Given the description of an element on the screen output the (x, y) to click on. 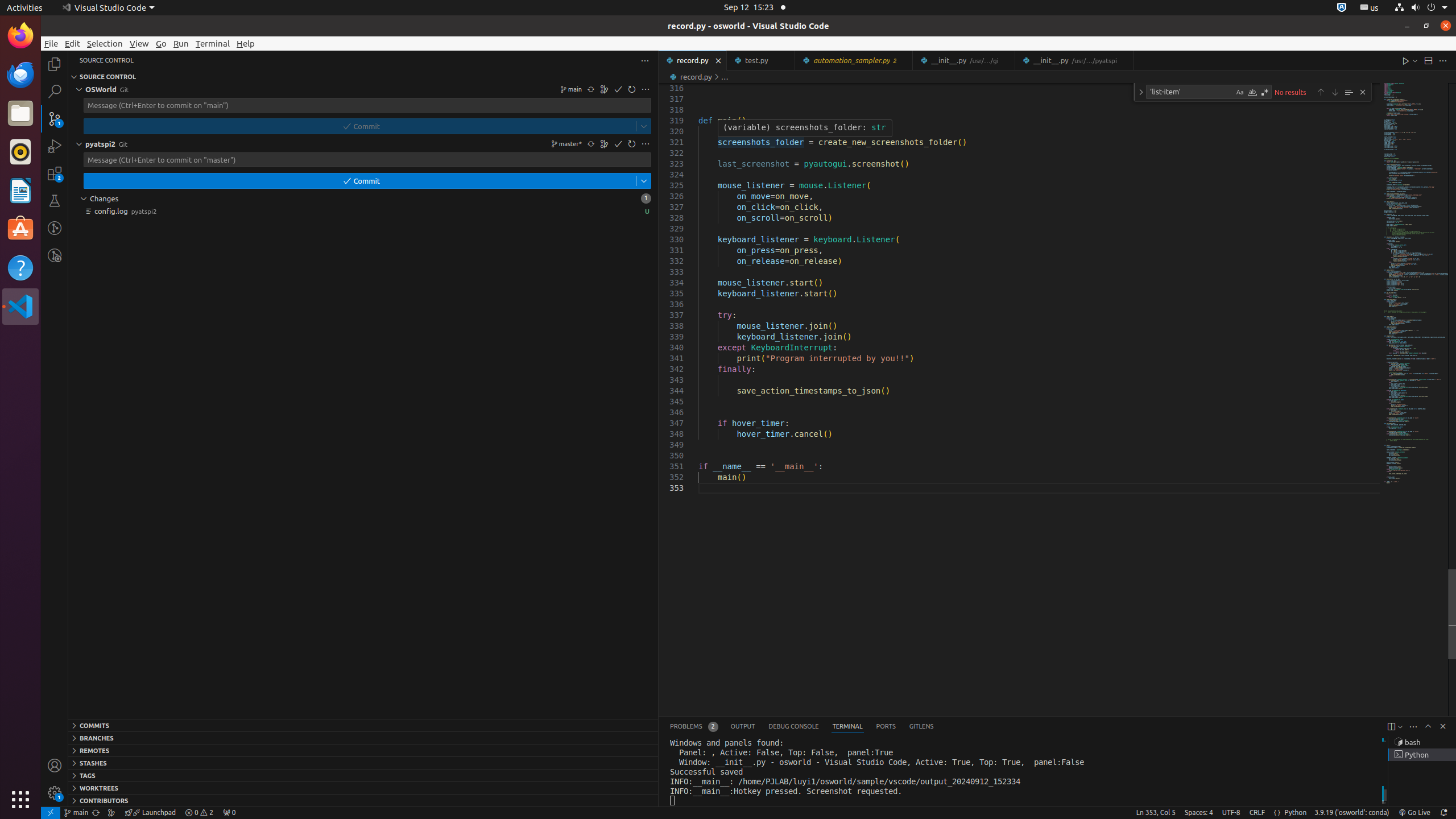
Firefox Web Browser Element type: push-button (20, 35)
Use Regular Expression (Alt+R) Element type: check-box (1264, 91)
Launch Profile... Element type: push-button (1399, 726)
Changes Element type: tree-item (363, 198)
